Given the description of an element on the screen output the (x, y) to click on. 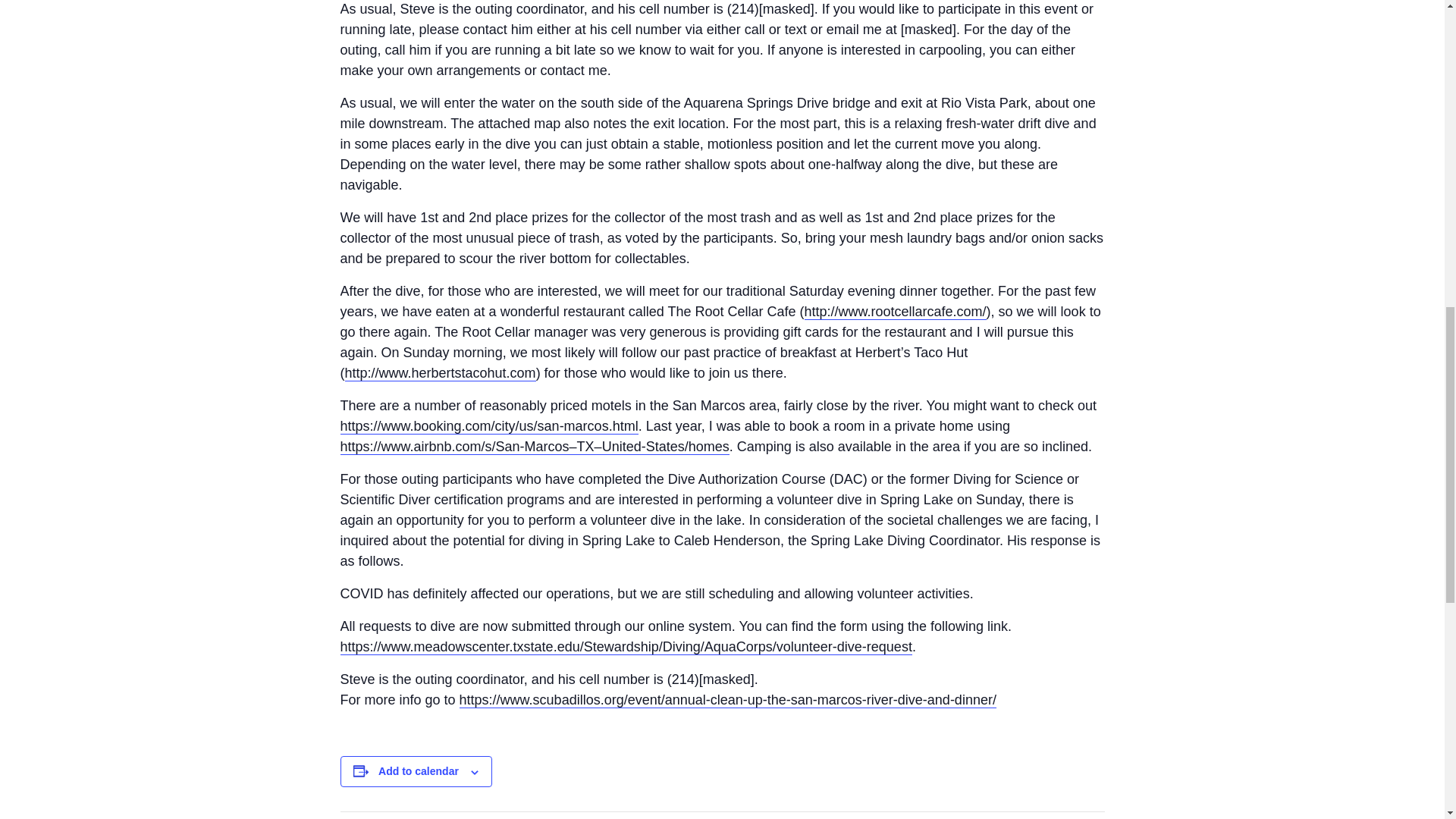
Add to calendar (418, 770)
